Given the description of an element on the screen output the (x, y) to click on. 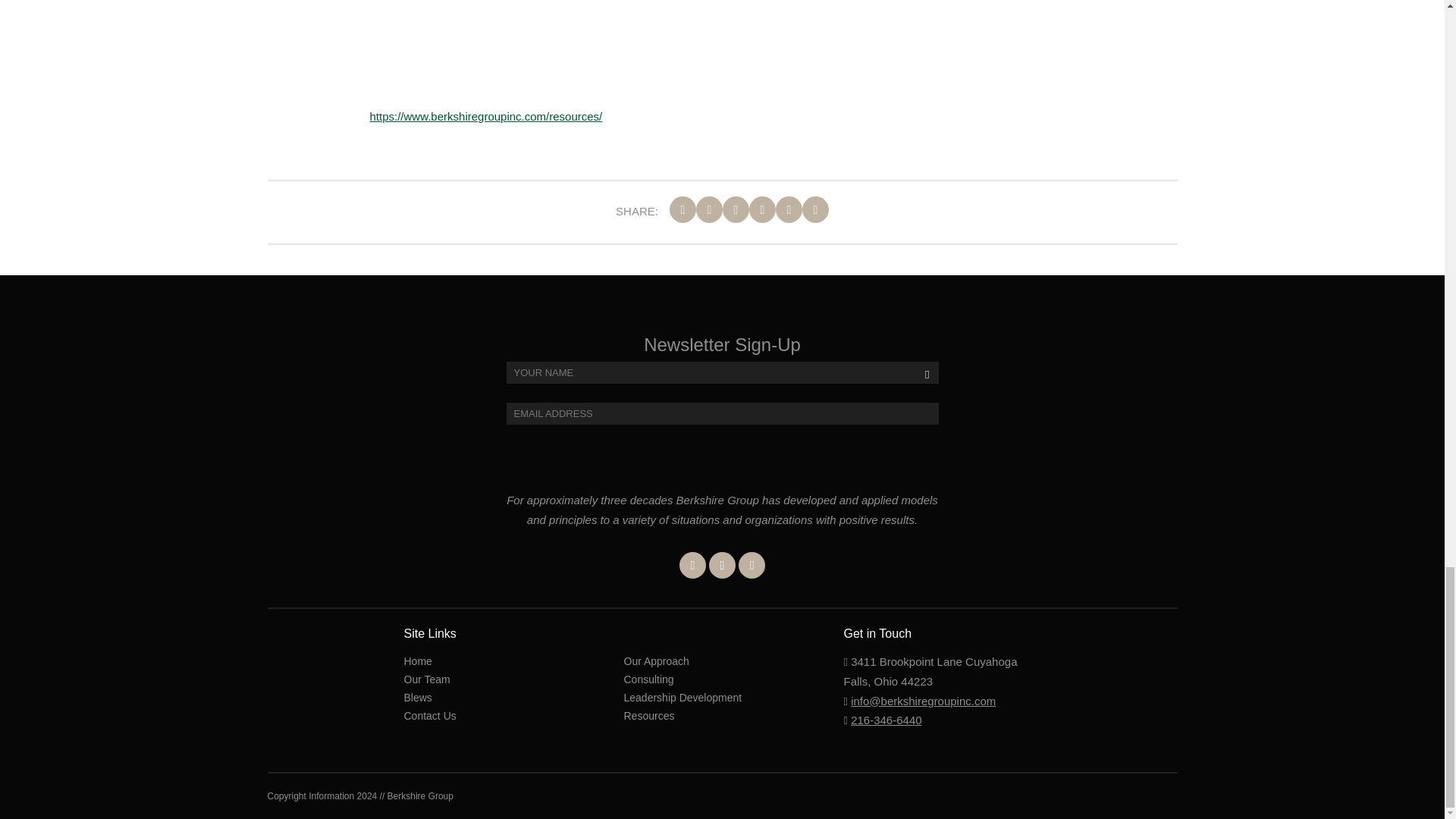
Twitter (722, 565)
Contact Us (429, 715)
Our Team (426, 679)
Facebook (692, 565)
Send (920, 404)
Blews (416, 697)
LinkedIn (751, 565)
Send (920, 404)
Our Approach (655, 661)
Home (416, 661)
